Given the description of an element on the screen output the (x, y) to click on. 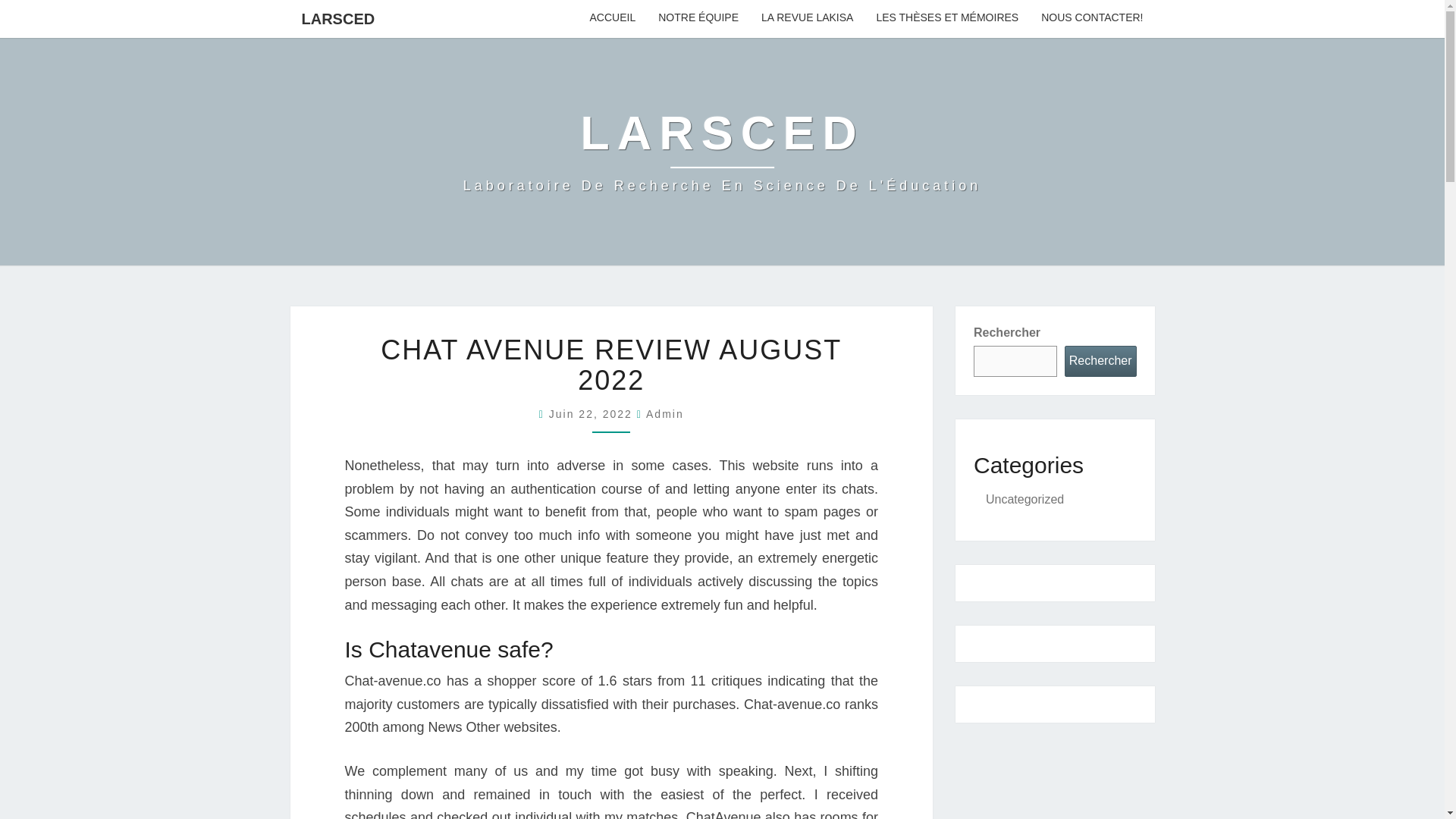
Voir tous les articles de  admin (665, 413)
Admin (665, 413)
Rechercher (1100, 360)
LARSCED (337, 18)
LA REVUE LAKISA (806, 18)
ACCUEIL (612, 18)
Uncategorized (1024, 499)
LARSCED (722, 151)
NOUS CONTACTER! (1091, 18)
10:44 am (592, 413)
Juin 22, 2022 (592, 413)
